Given the description of an element on the screen output the (x, y) to click on. 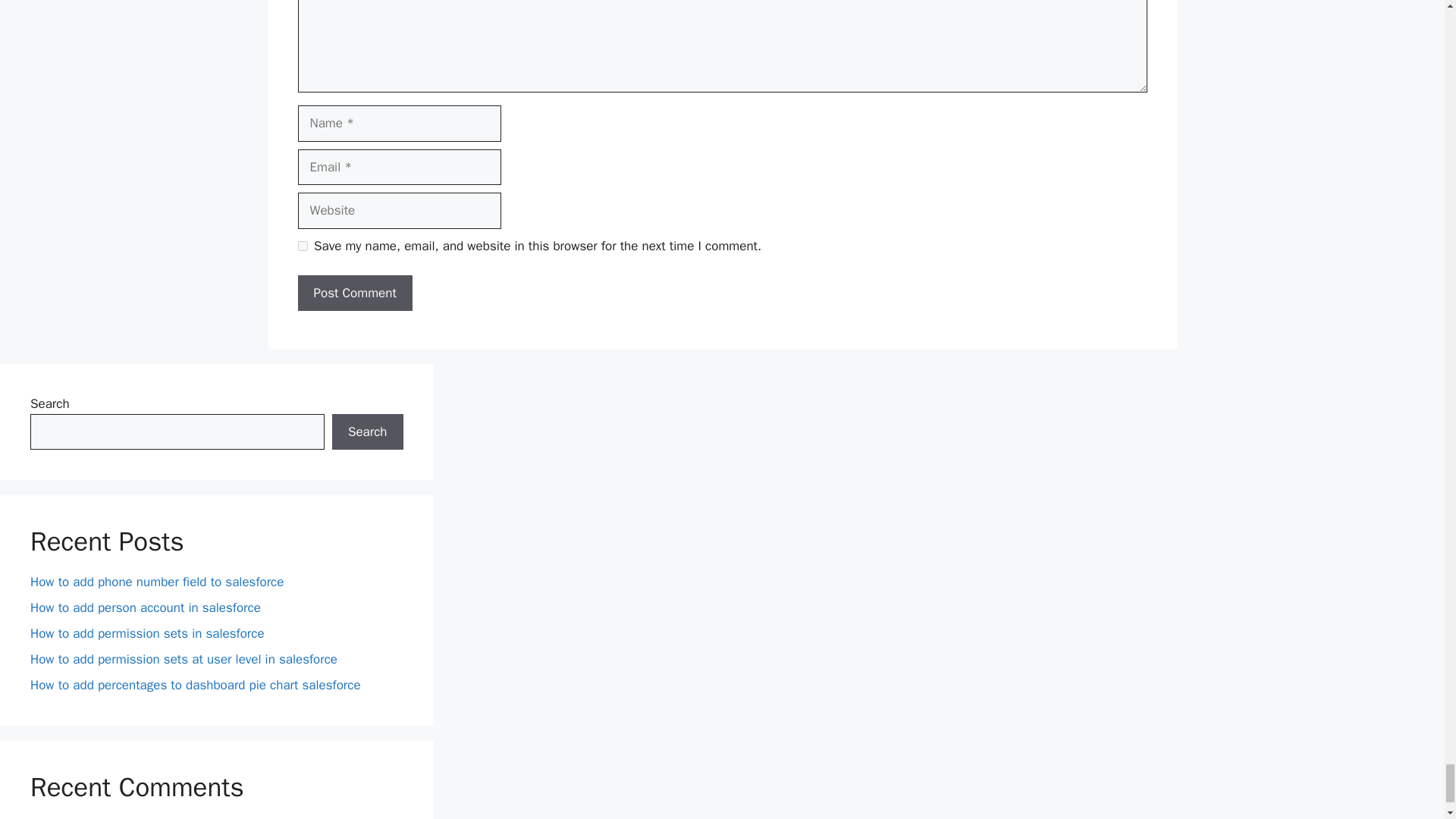
yes (302, 245)
Post Comment (354, 293)
